Given the description of an element on the screen output the (x, y) to click on. 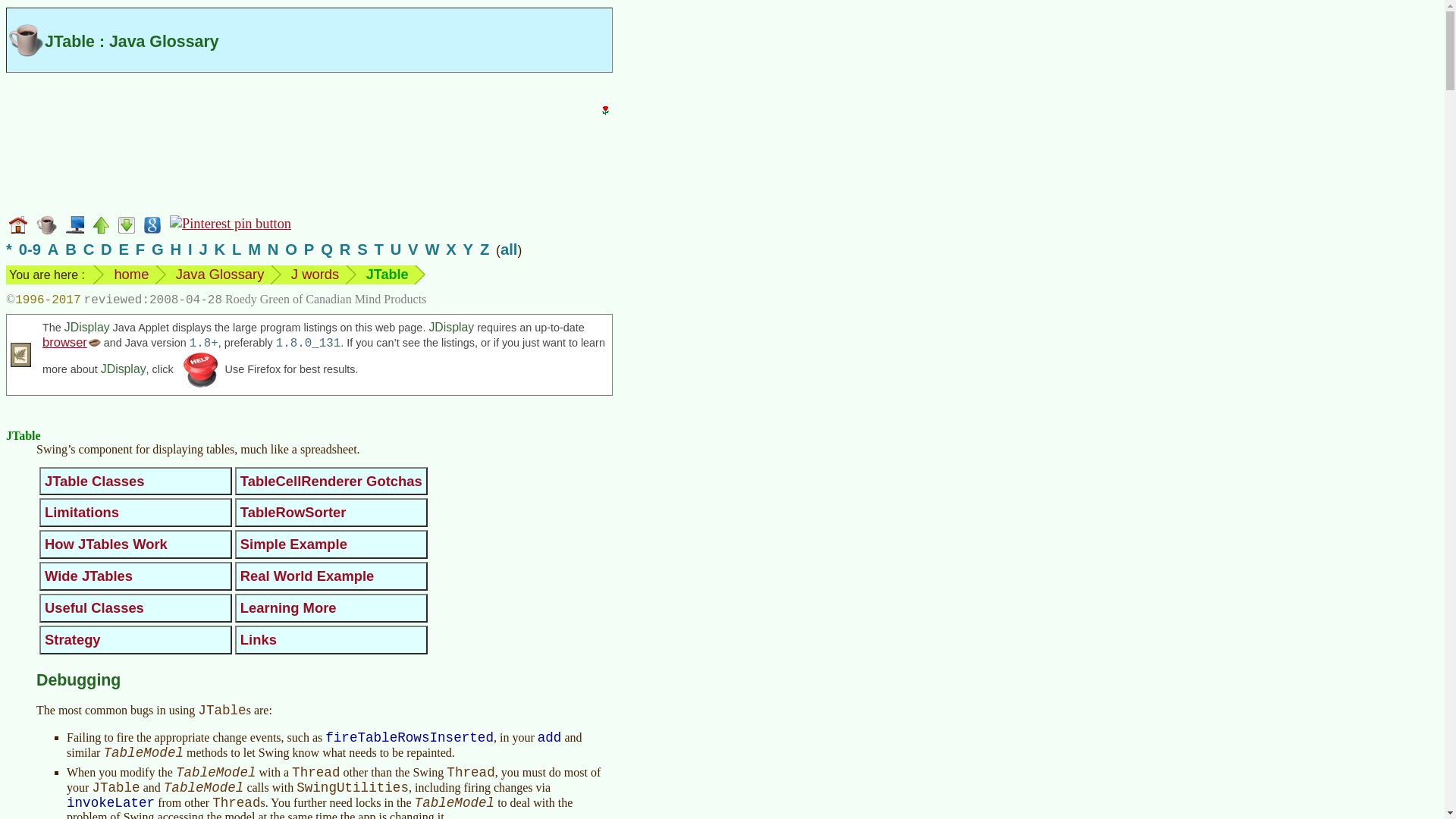
J words (315, 273)
home (130, 273)
all (509, 248)
browser (71, 341)
0-9 (29, 248)
Java Glossary (220, 273)
